Given the description of an element on the screen output the (x, y) to click on. 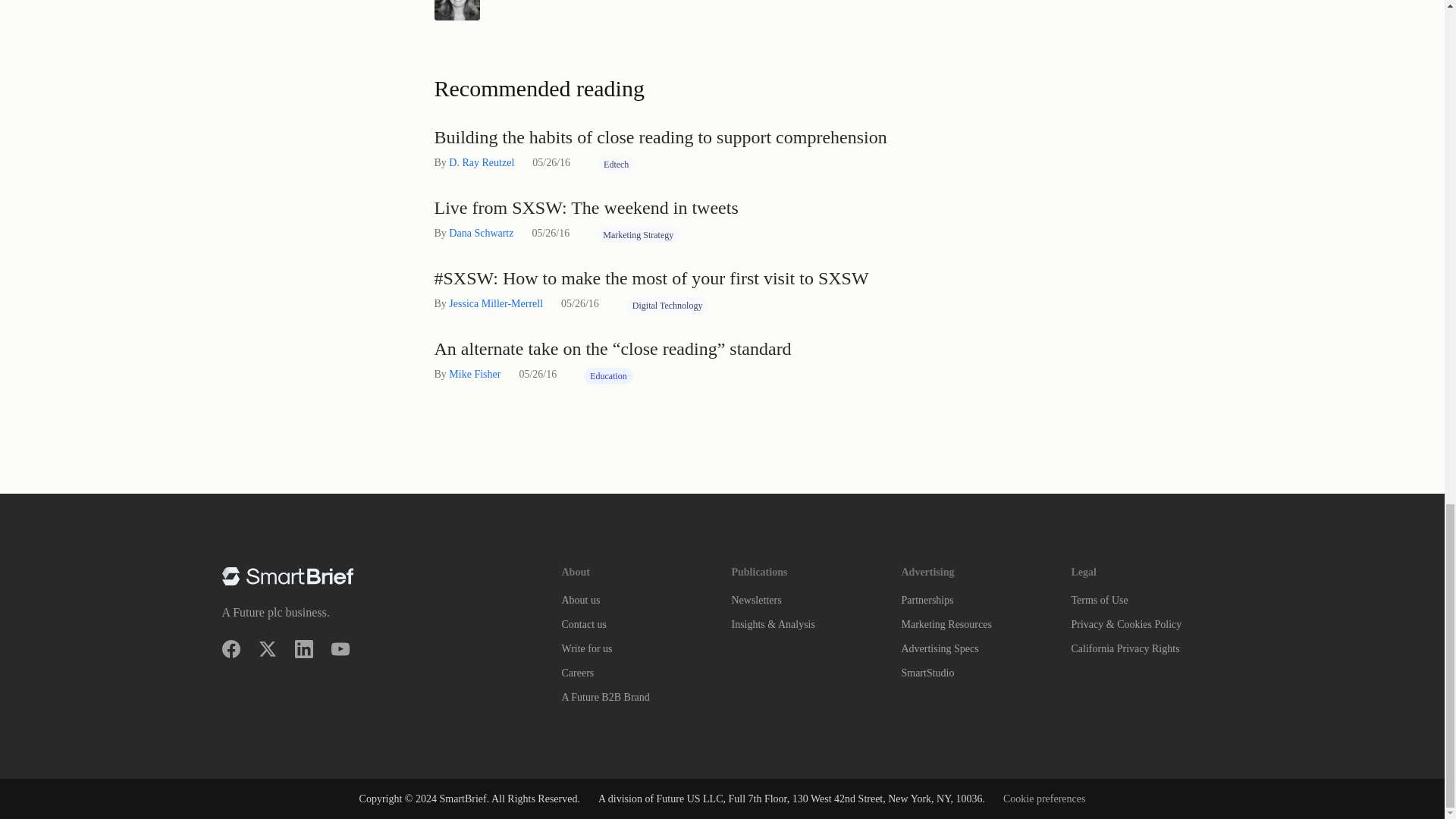
Edtech (615, 164)
D. Ray Reutzel (480, 162)
YouTube (339, 648)
Facebook (230, 648)
Marketing Strategy (637, 234)
LinkedIn (303, 648)
Live from SXSW: The weekend in tweets (721, 208)
Dana Schwartz (480, 233)
